Given the description of an element on the screen output the (x, y) to click on. 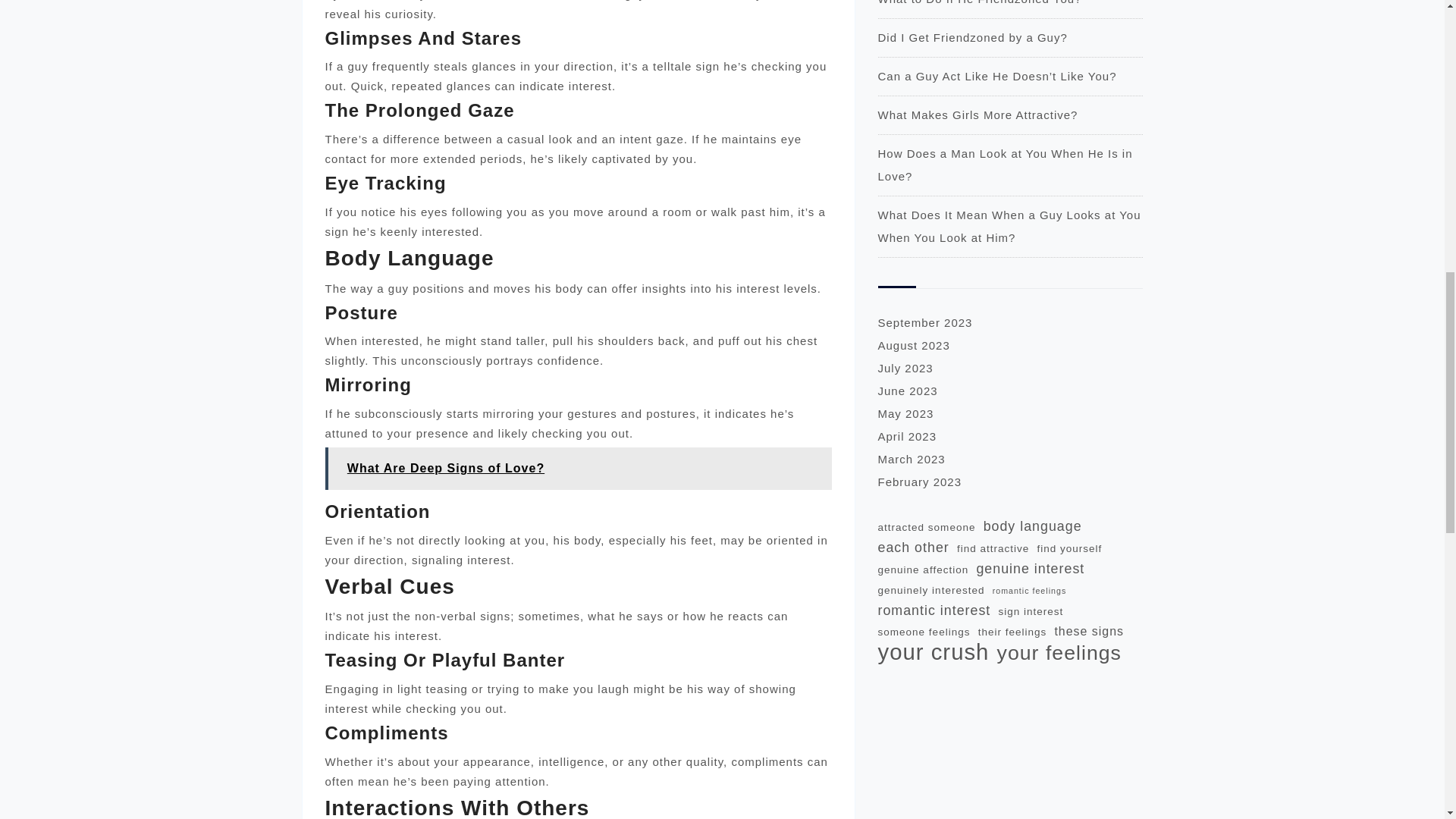
find yourself (1069, 548)
genuine affection (923, 569)
Permalink to What Makes Girls More Attractive? (977, 114)
August 2023 (913, 345)
genuine interest (1029, 568)
What to Do If He Friendzoned You? (979, 2)
Permalink to What to Do If He Friendzoned You? (979, 2)
May 2023 (905, 413)
body language (1032, 526)
April 2023 (907, 436)
attracted someone (926, 527)
February 2023 (919, 481)
June 2023 (907, 390)
Permalink to Did I Get Friendzoned by a Guy? (972, 37)
March 2023 (910, 459)
